Given the description of an element on the screen output the (x, y) to click on. 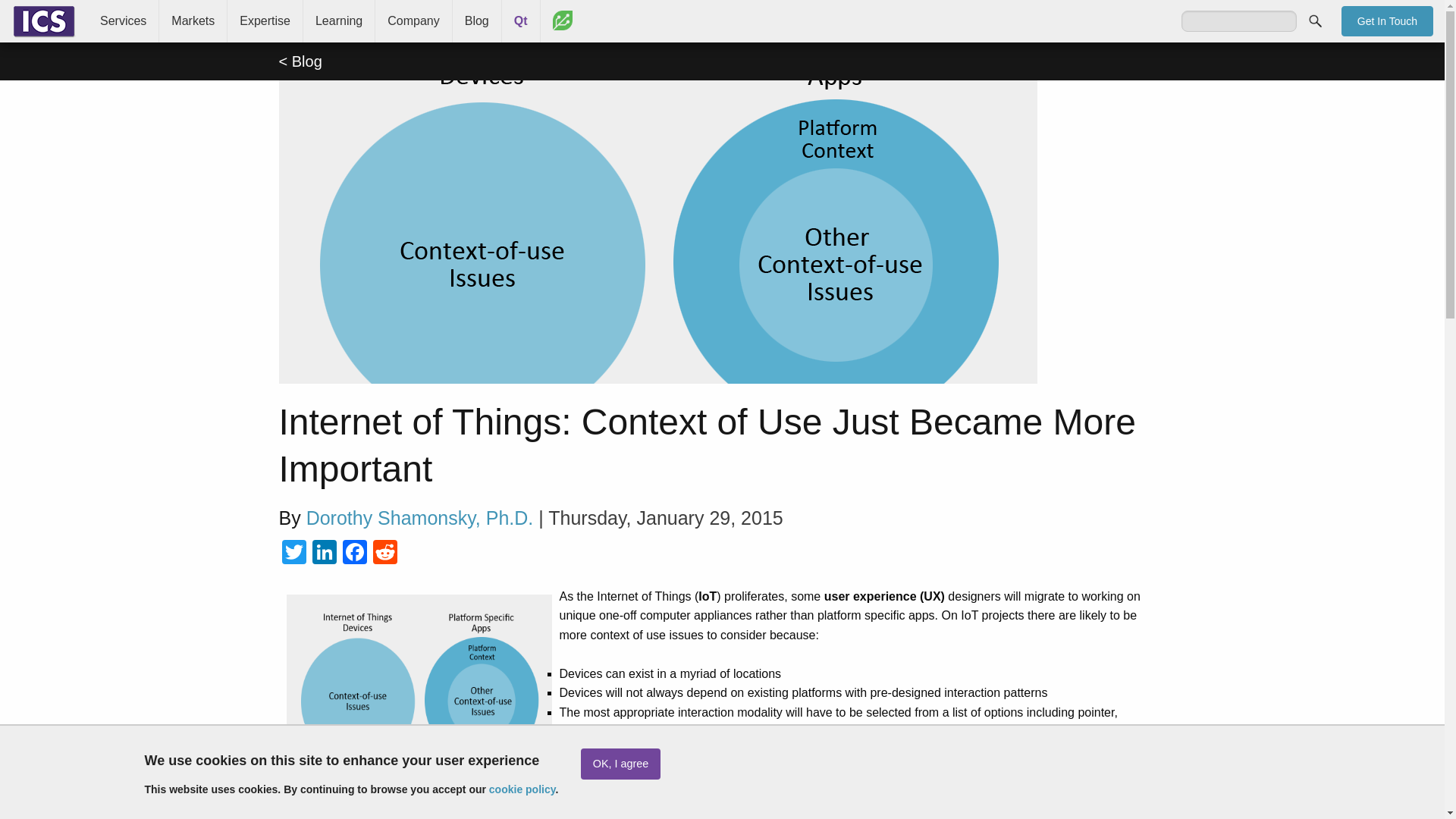
Blog (476, 21)
OK, I agree (619, 763)
Markets (192, 21)
Learning (338, 21)
Company (413, 21)
cookie policy (522, 788)
Services (122, 21)
Search (1315, 20)
Enter the terms you wish to search for. (1238, 20)
Expertise (264, 21)
ICS (44, 21)
